Given the description of an element on the screen output the (x, y) to click on. 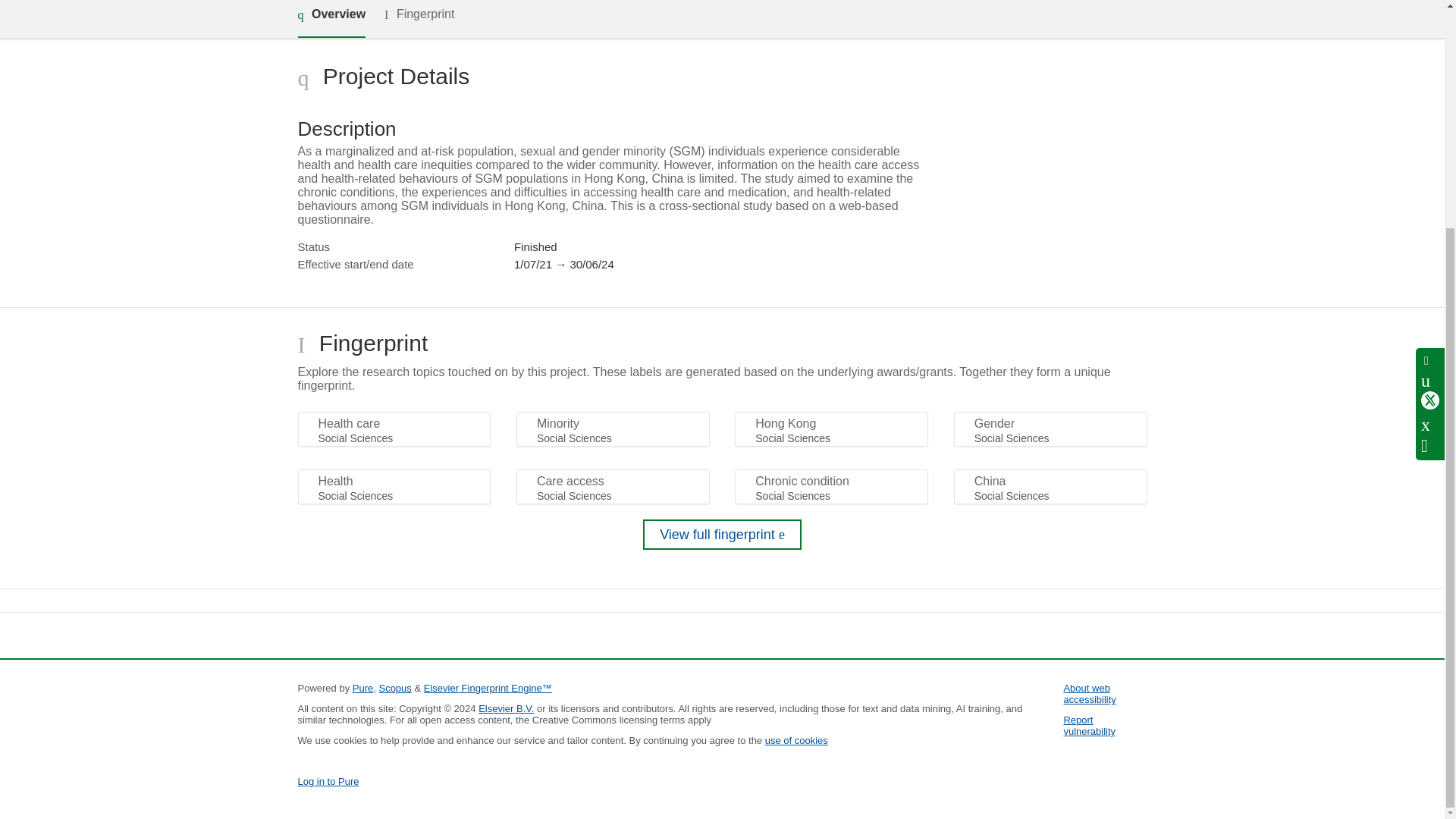
Pure (362, 687)
Fingerprint (419, 18)
Scopus (394, 687)
View full fingerprint (722, 534)
Overview (331, 18)
